Given the description of an element on the screen output the (x, y) to click on. 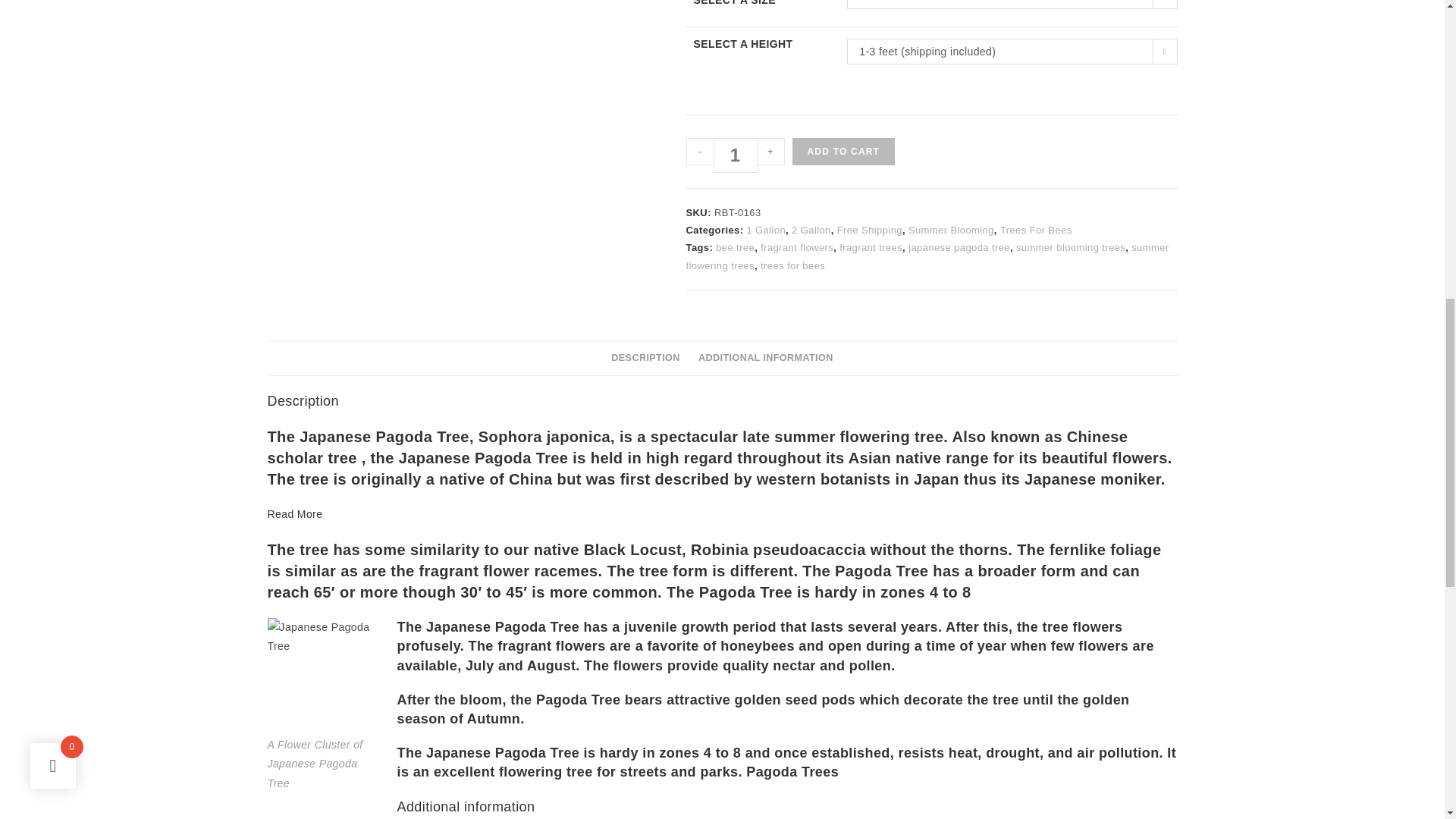
1 (735, 154)
